Given the description of an element on the screen output the (x, y) to click on. 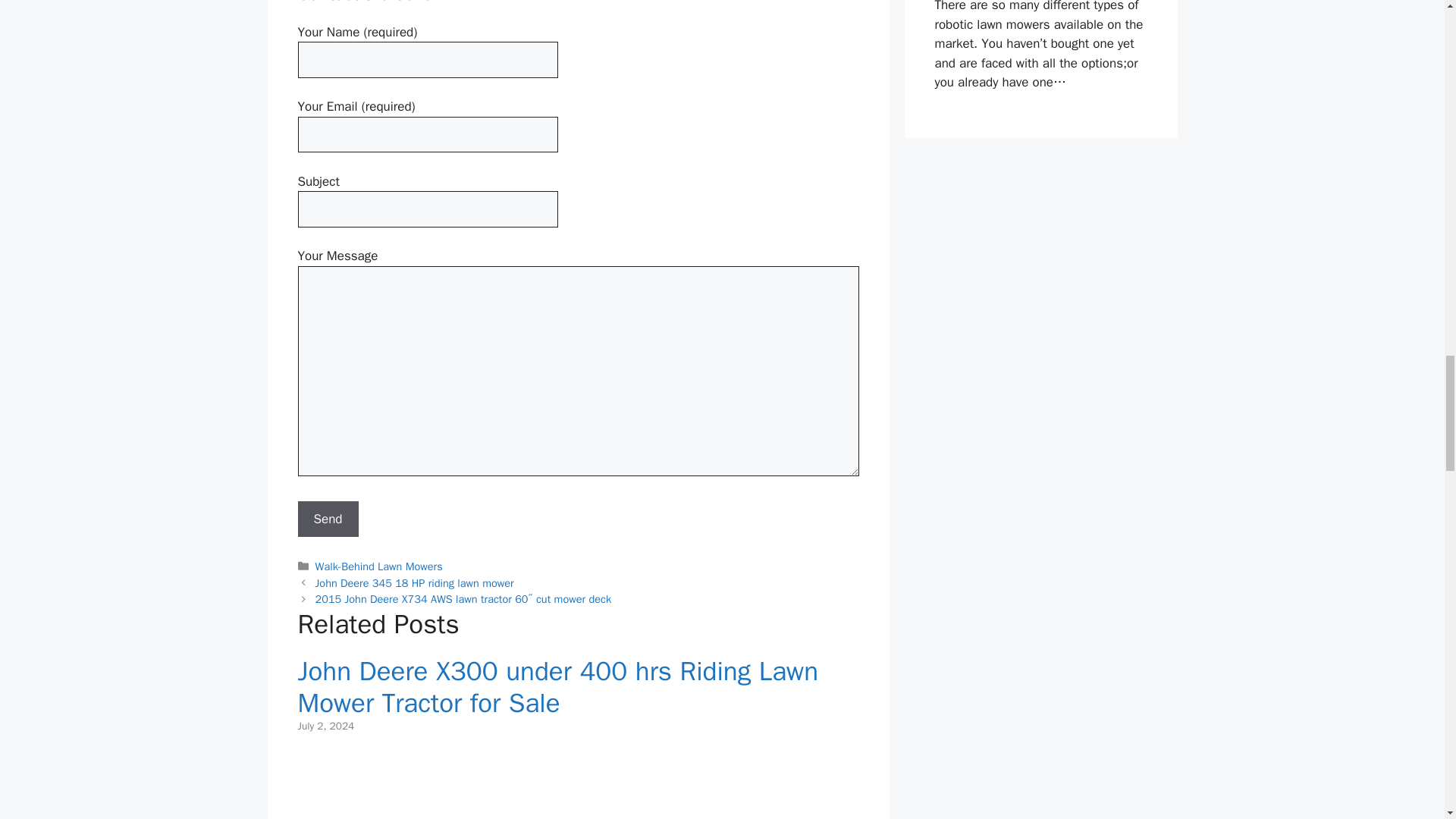
10:43 am (325, 725)
Send (327, 519)
